Given the description of an element on the screen output the (x, y) to click on. 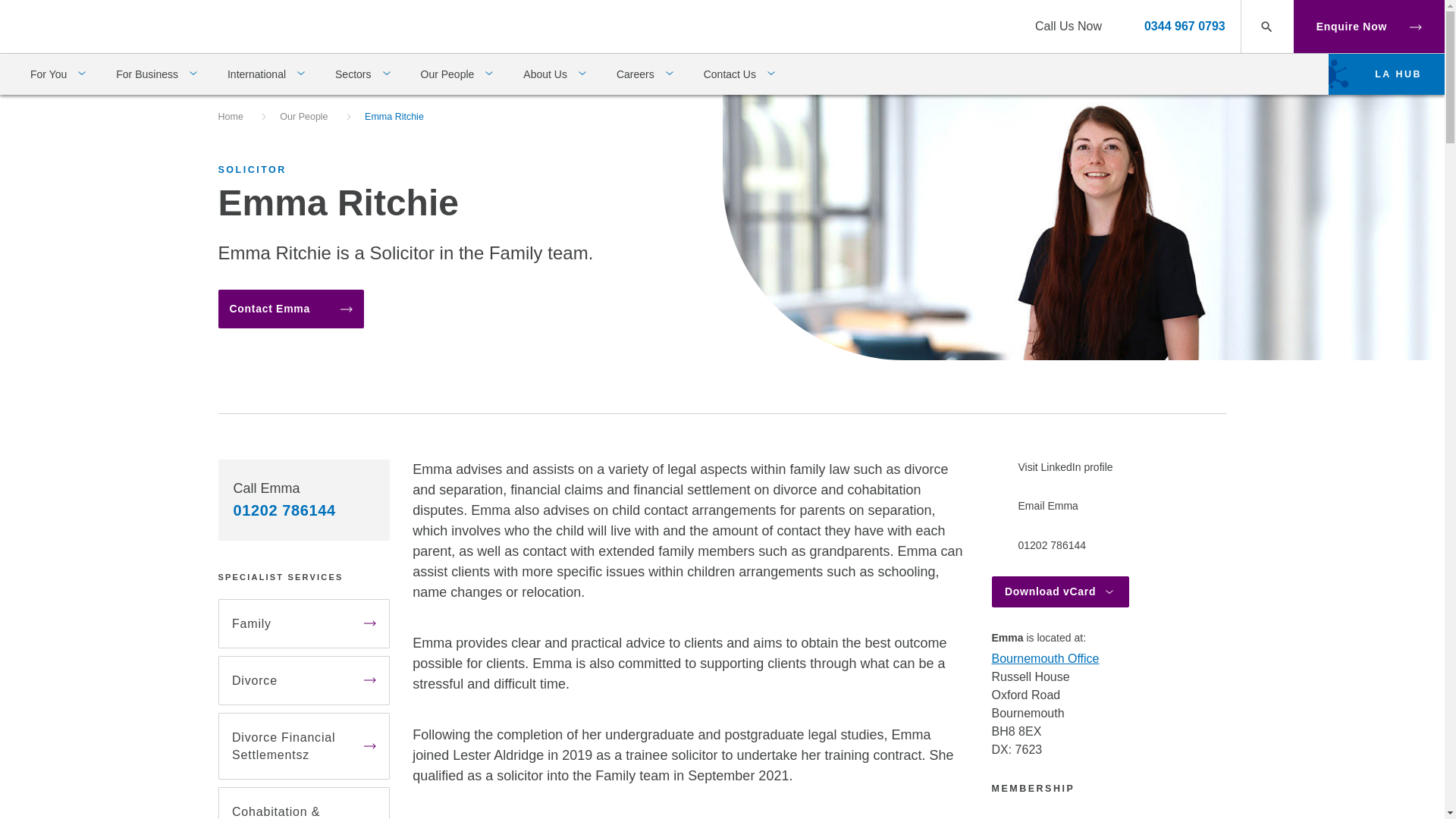
Call us (1184, 26)
Home Page (79, 24)
0344 967 0793 (1184, 26)
For You (57, 74)
Make an enquiry (291, 308)
